Given the description of an element on the screen output the (x, y) to click on. 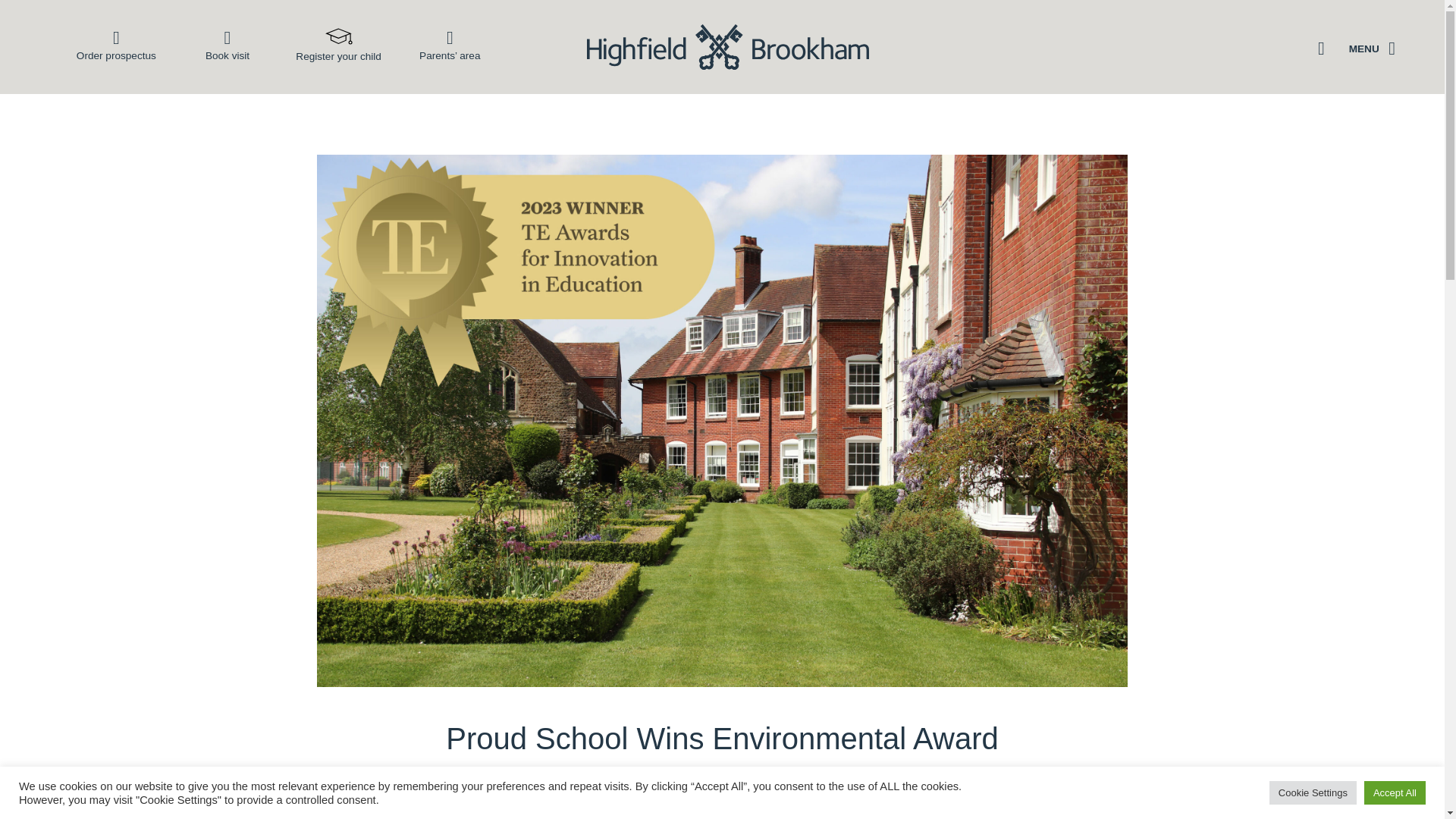
Register your child (338, 43)
Book visit (227, 43)
Order prospectus (116, 43)
